Given the description of an element on the screen output the (x, y) to click on. 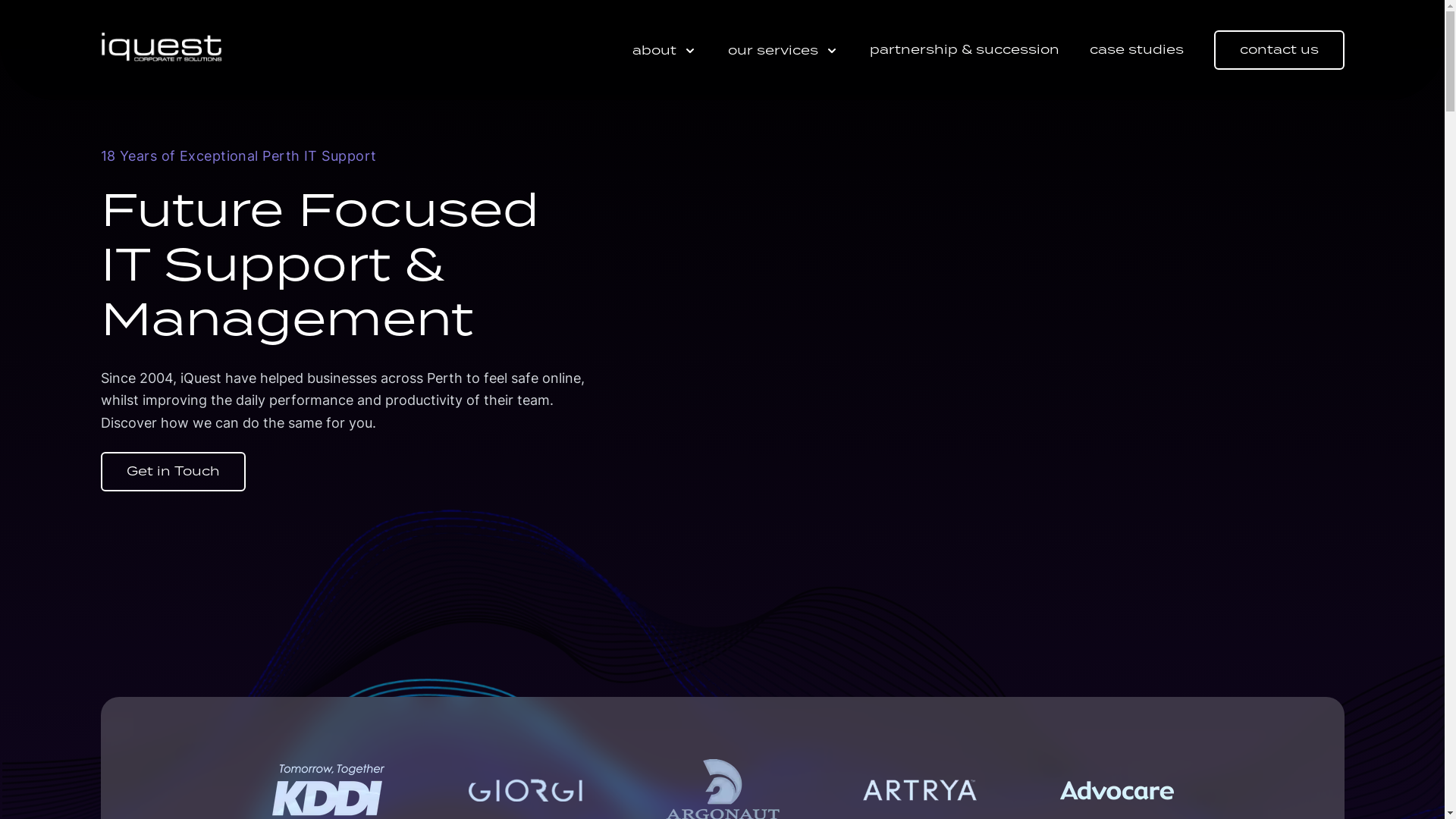
Our Directors Element type: text (767, 639)
our services Element type: text (783, 50)
Privacy Policy Element type: text (1191, 611)
About Us Element type: text (756, 554)
partnership & succession Element type: text (963, 49)
EDR & Managed SOC Element type: text (998, 633)
Technology Consulting Element type: text (1001, 746)
Testimonials Element type: text (764, 611)
Facebook Element type: text (109, 687)
Contact Us Element type: text (1184, 582)
Business Helpdesk Support Element type: text (1013, 689)
Linkedin Element type: text (145, 687)
Case Studies Element type: text (1189, 554)
Our Partners Element type: text (765, 582)
Achieve Cyber Resilience Element type: text (1007, 554)
case studies Element type: text (1135, 49)
iQuest Element type: text (160, 49)
Hardware & Software Procurement Element type: text (1031, 717)
IT Support Services Element type: text (994, 661)
contact us Element type: text (1278, 49)
Project Management Element type: text (996, 774)
about Element type: text (664, 50)
KnowBe4 Cyber Security Awareness Training Element type: text (1035, 593)
